Given the description of an element on the screen output the (x, y) to click on. 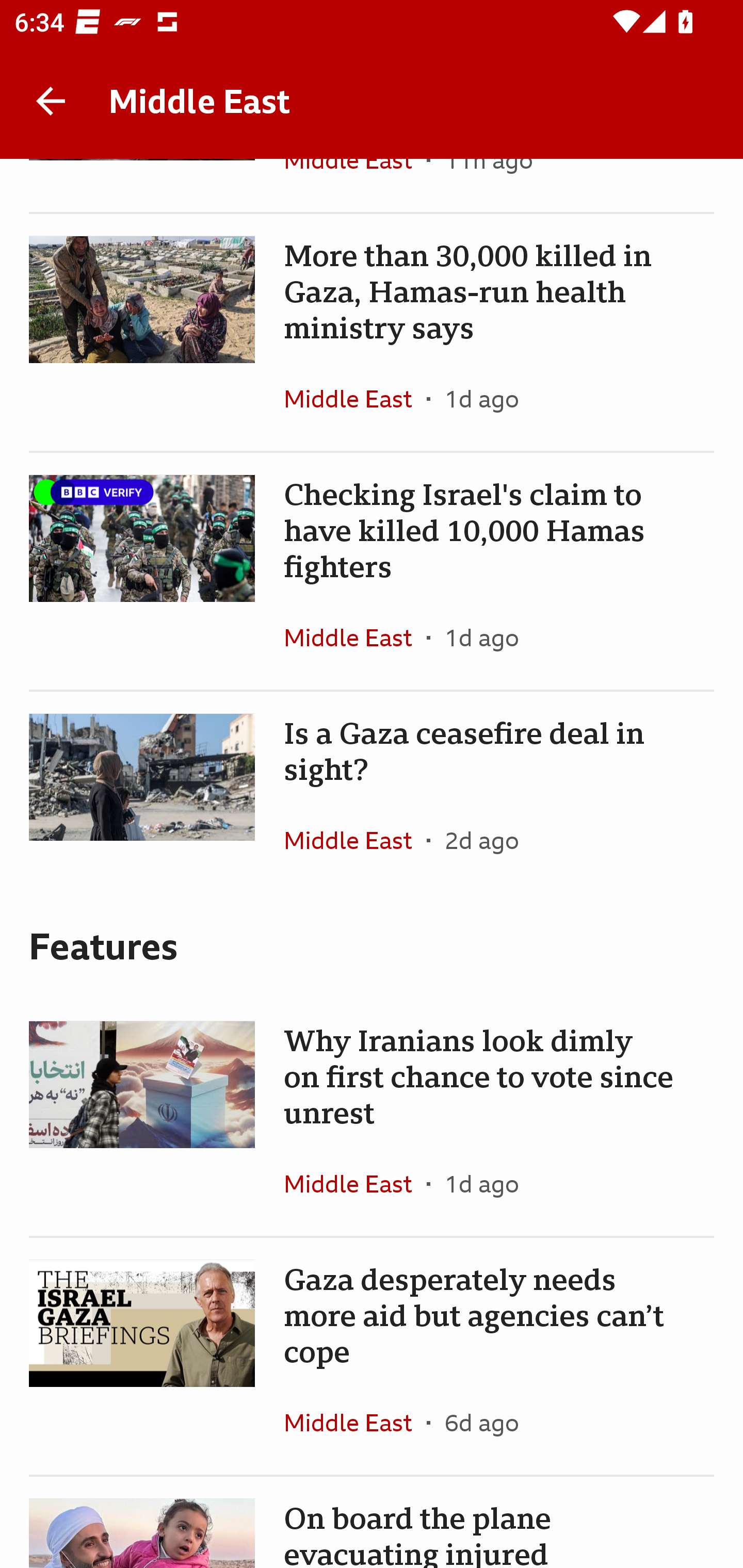
Back (50, 101)
Middle East In the section Middle East (354, 398)
Middle East In the section Middle East (354, 636)
Middle East In the section Middle East (354, 840)
Middle East In the section Middle East (354, 1183)
Middle East In the section Middle East (354, 1421)
On board the plane evacuating injured Palestinians (371, 1522)
